Given the description of an element on the screen output the (x, y) to click on. 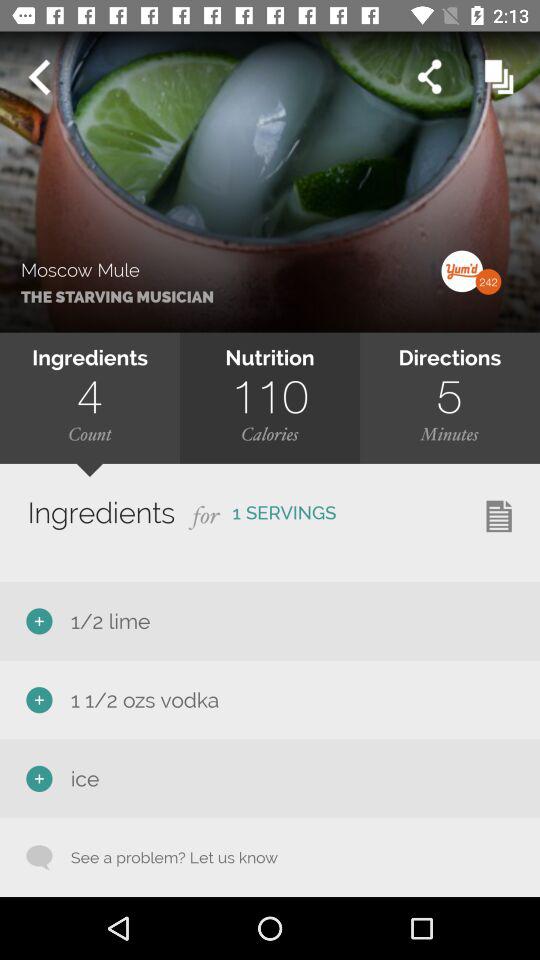
go to previous (39, 77)
